Given the description of an element on the screen output the (x, y) to click on. 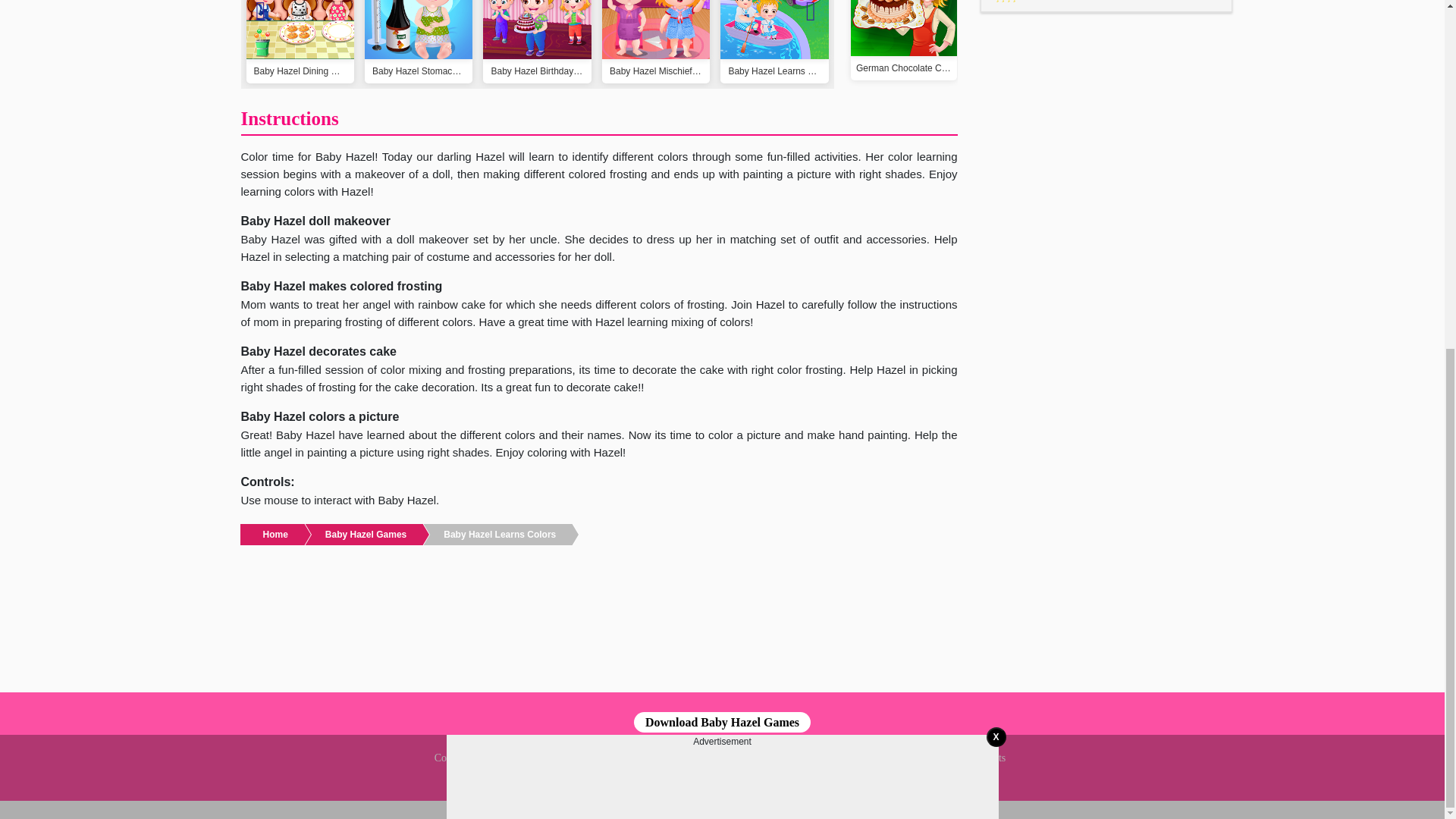
Baby Hazel Stomach Care (418, 41)
Baby Hazel Birthday Surprise (537, 41)
Baby Hazel Dining Manners (299, 41)
Baby Hazel Learns Vehicles (774, 41)
Baby Hazel Mischief Time (656, 41)
